Given the description of an element on the screen output the (x, y) to click on. 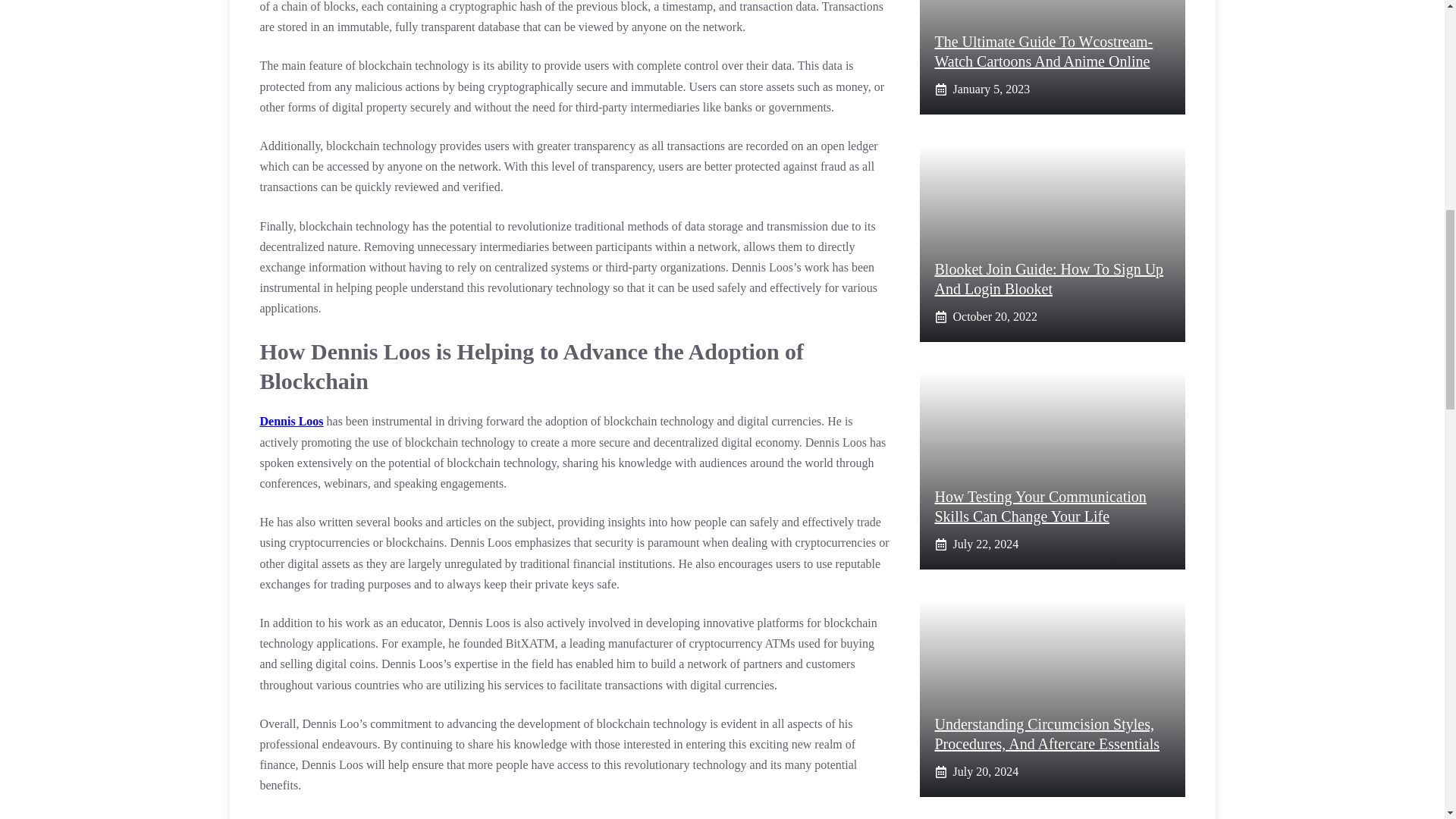
Scroll back to top (1406, 720)
